Given the description of an element on the screen output the (x, y) to click on. 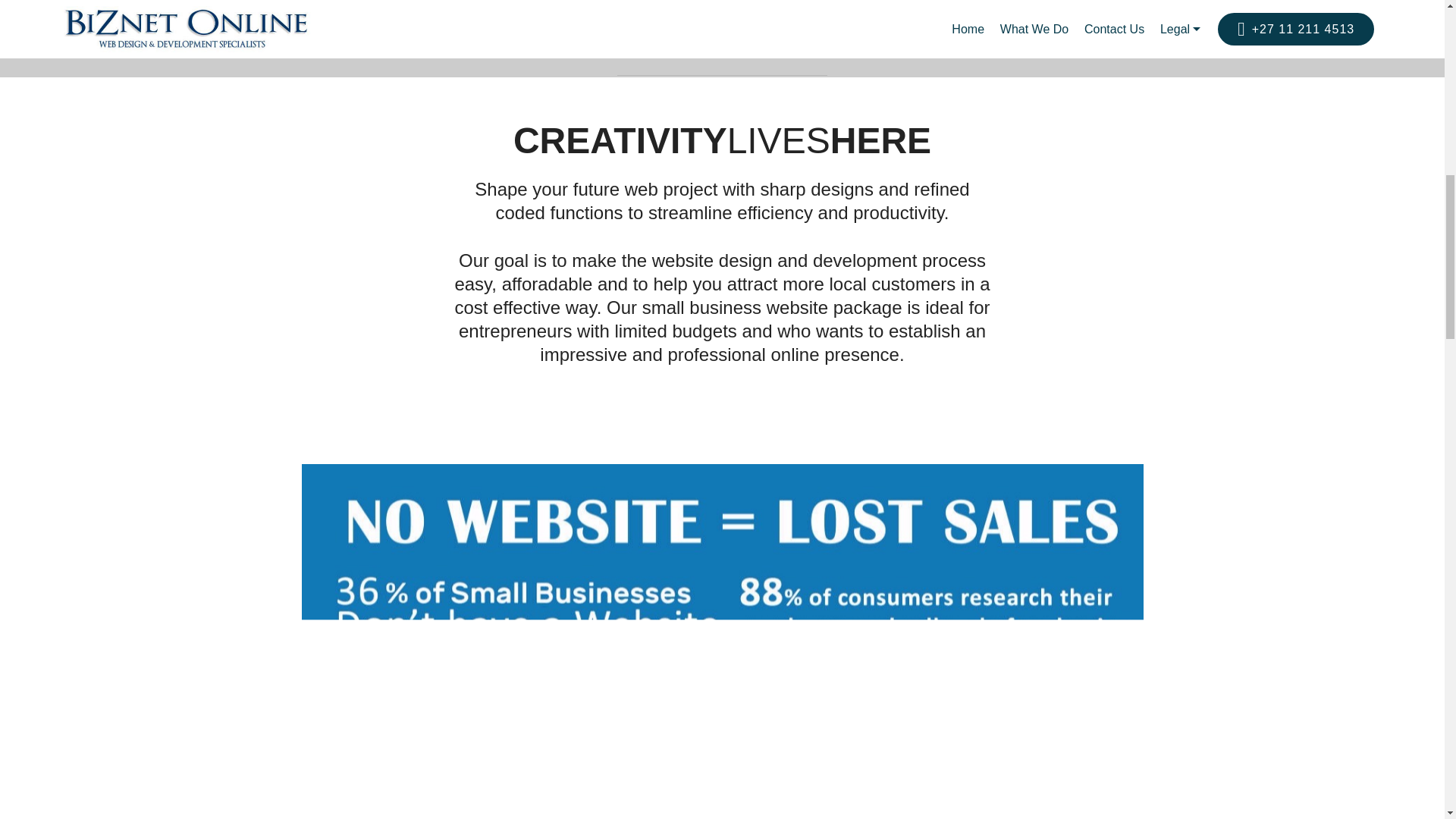
FOR ALL OFFICIAL INFORMATION AND UPDATES REGARDING COVID-19 (721, 31)
